Given the description of an element on the screen output the (x, y) to click on. 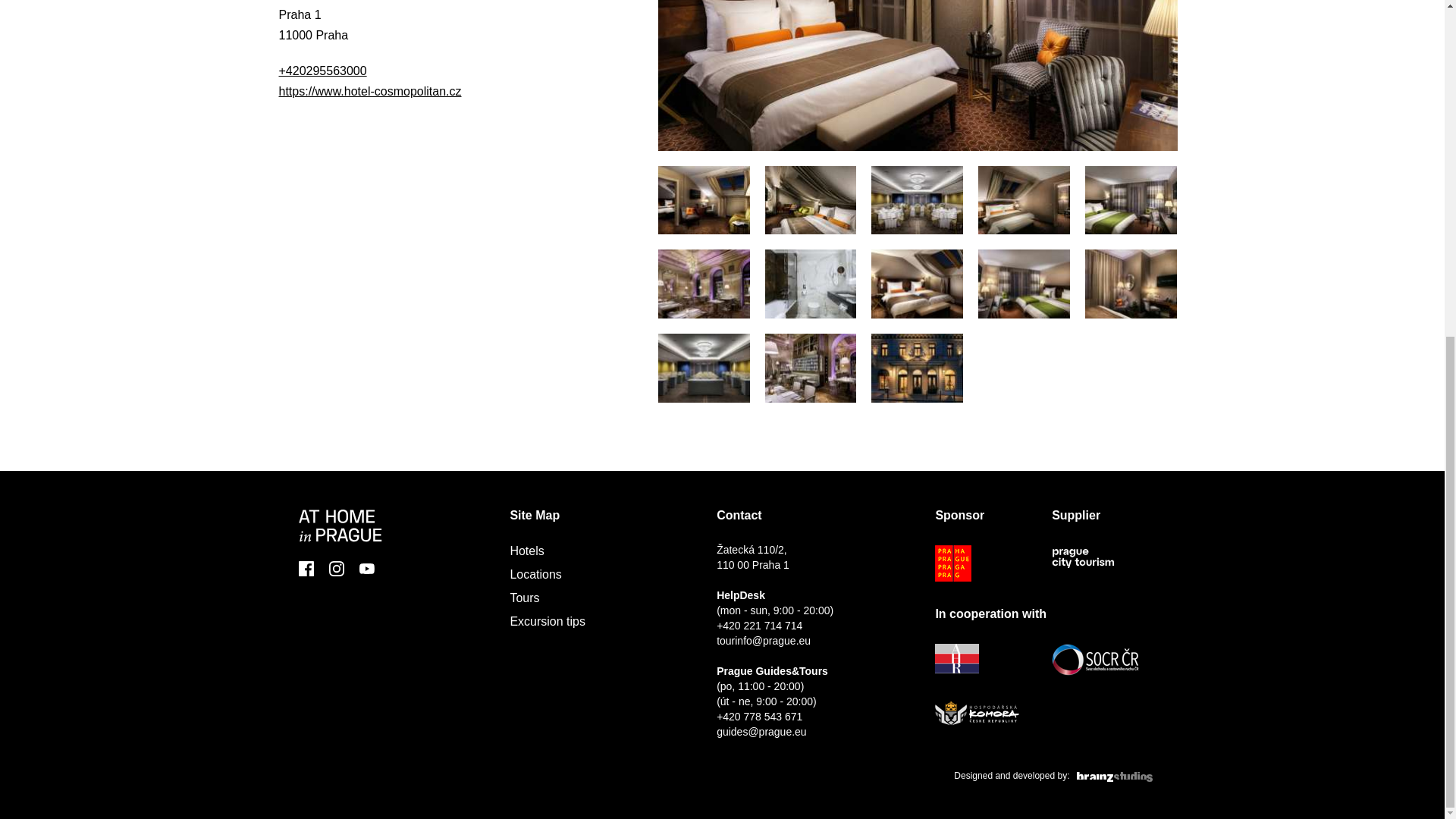
Hotels (526, 550)
Excursion tips (547, 621)
Locations (535, 574)
Tours (523, 597)
